Given the description of an element on the screen output the (x, y) to click on. 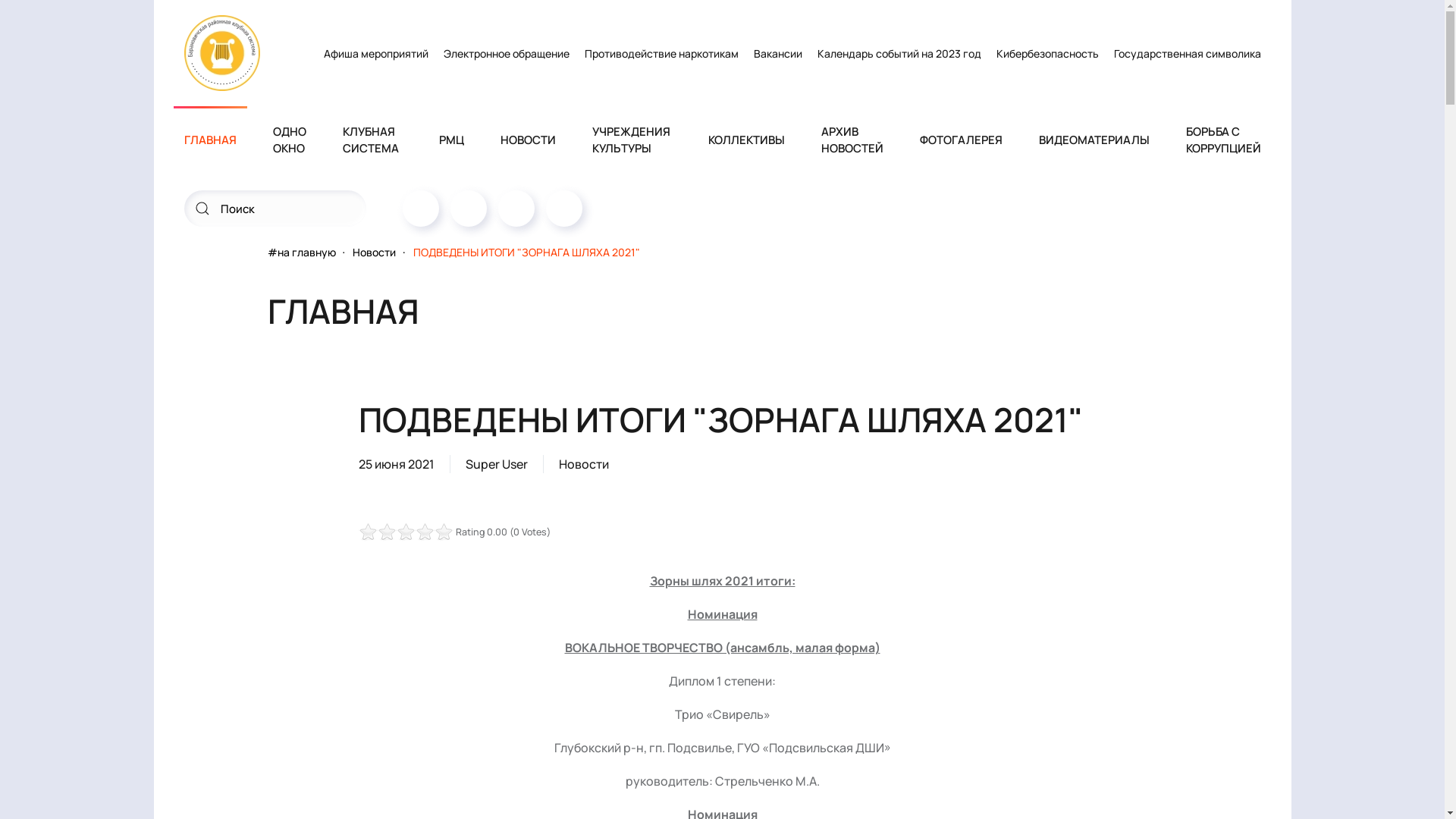
1 Element type: text (395, 531)
1 Element type: text (376, 531)
1 Element type: text (371, 531)
1 Element type: text (400, 531)
1 Element type: text (362, 531)
1 Element type: text (390, 531)
1 Element type: text (404, 531)
1 Element type: text (381, 531)
1 Element type: text (385, 531)
1 Element type: text (366, 531)
